Given the description of an element on the screen output the (x, y) to click on. 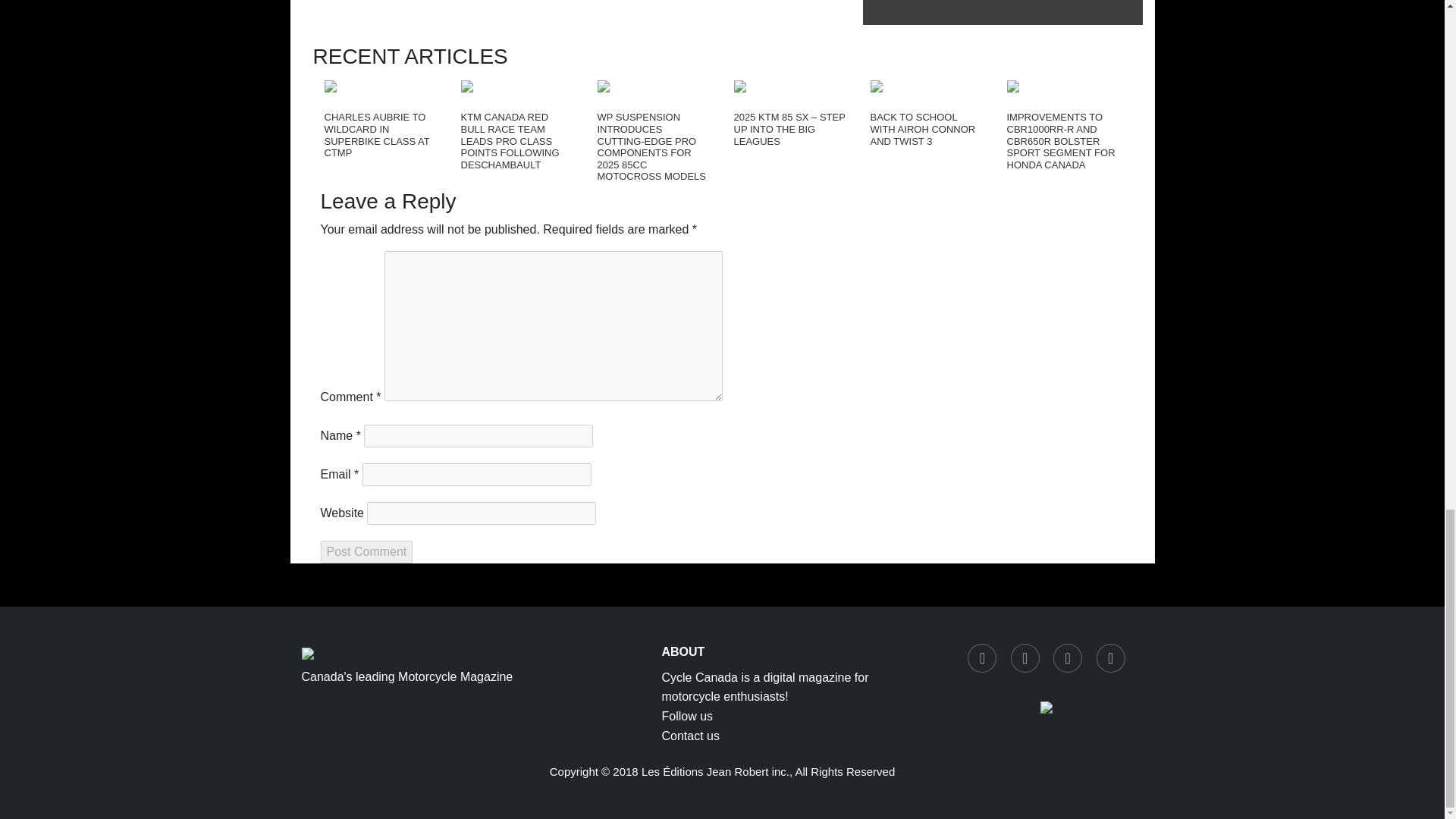
Post Comment (366, 551)
